Given the description of an element on the screen output the (x, y) to click on. 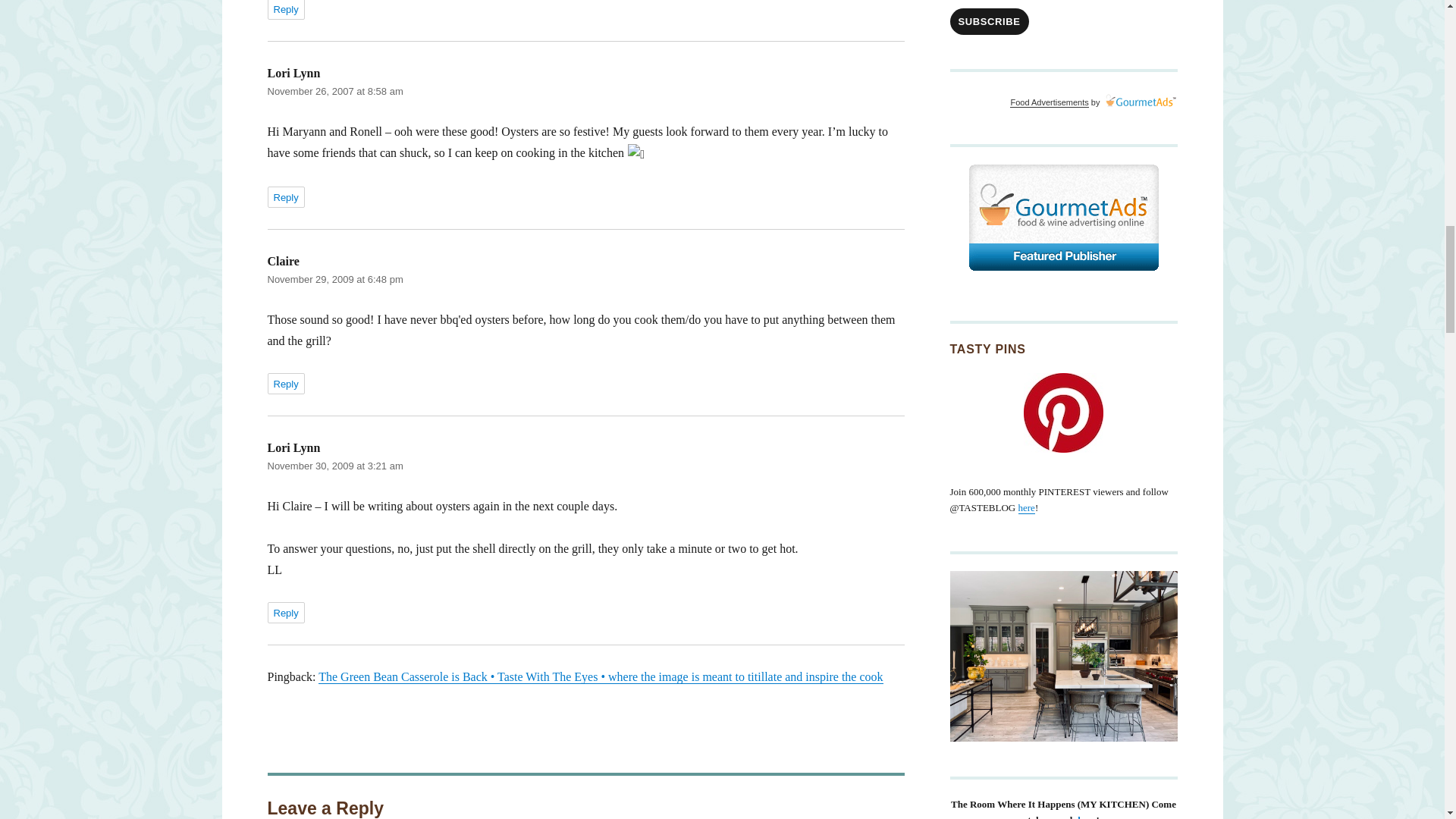
Reply (285, 383)
November 29, 2009 at 6:48 pm (334, 279)
November 30, 2009 at 3:21 am (334, 465)
Food Advertising (1062, 217)
Reply (285, 197)
November 26, 2007 at 8:58 am (334, 91)
Reply (285, 9)
Reply (285, 612)
Food Advertisements (1048, 102)
